Given the description of an element on the screen output the (x, y) to click on. 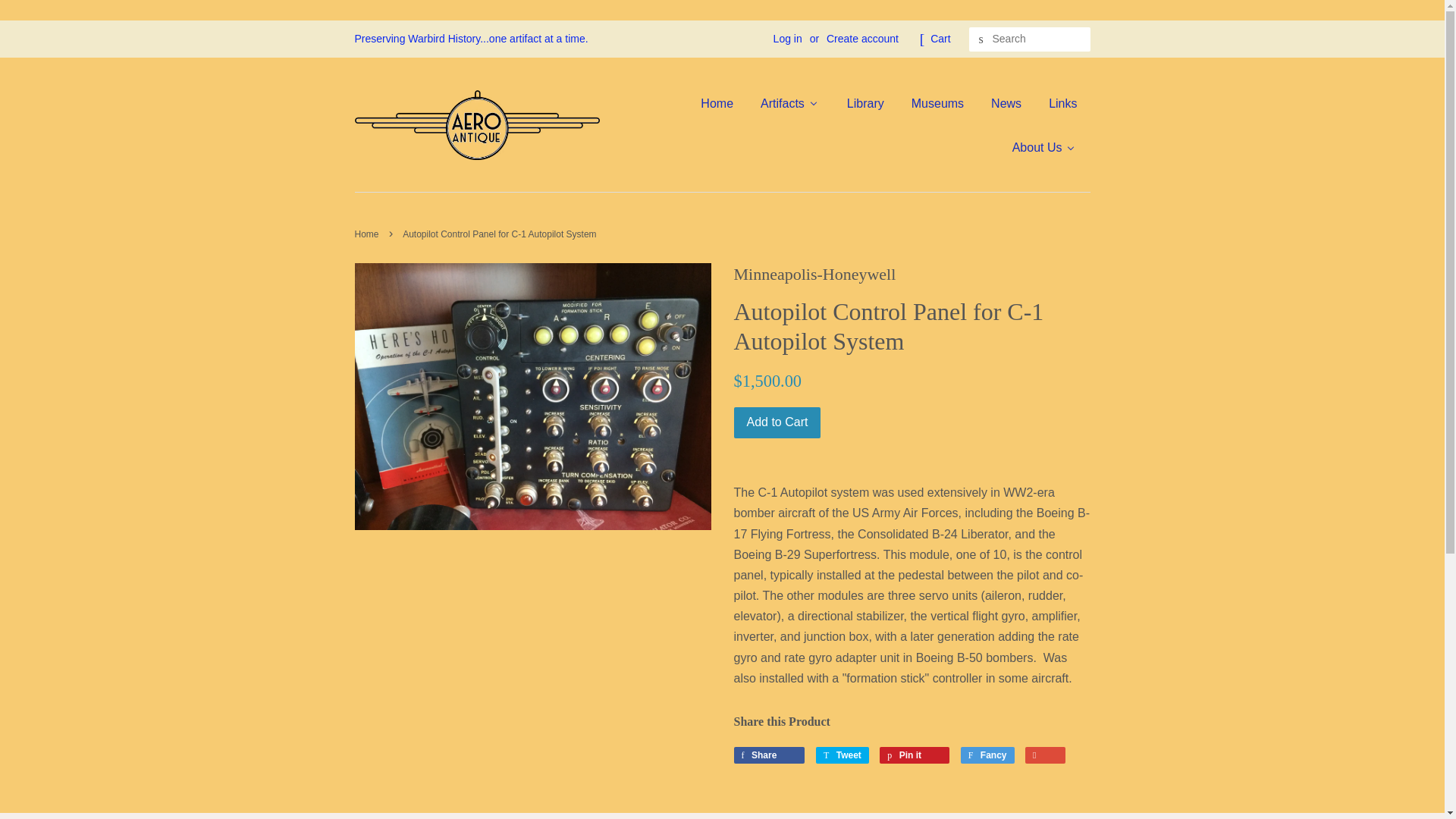
Log in (787, 38)
Create account (862, 38)
Back to the frontpage (368, 234)
Search (980, 39)
Cart (940, 39)
